Given the description of an element on the screen output the (x, y) to click on. 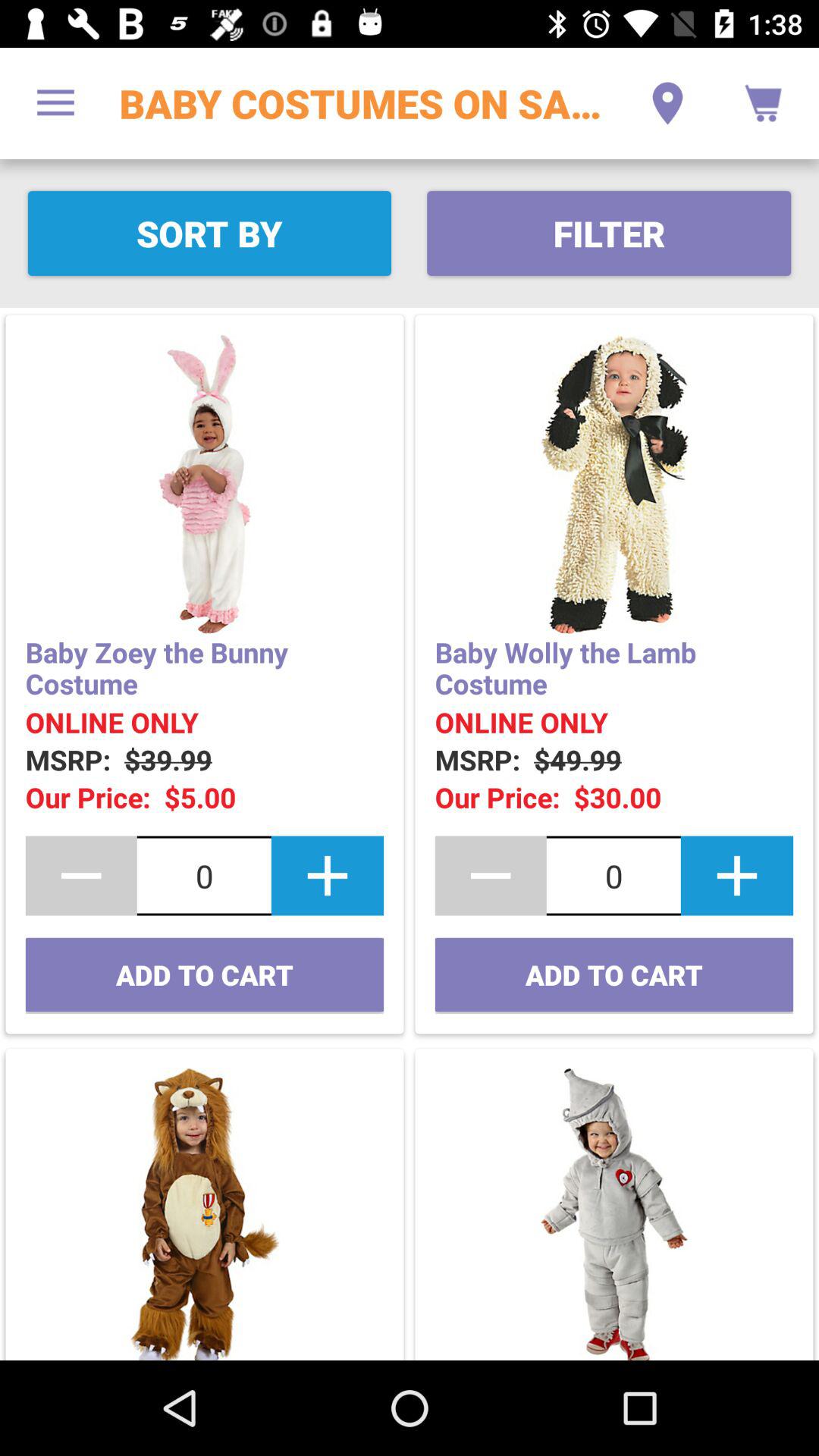
launch the item to the right of the sort by (609, 233)
